Given the description of an element on the screen output the (x, y) to click on. 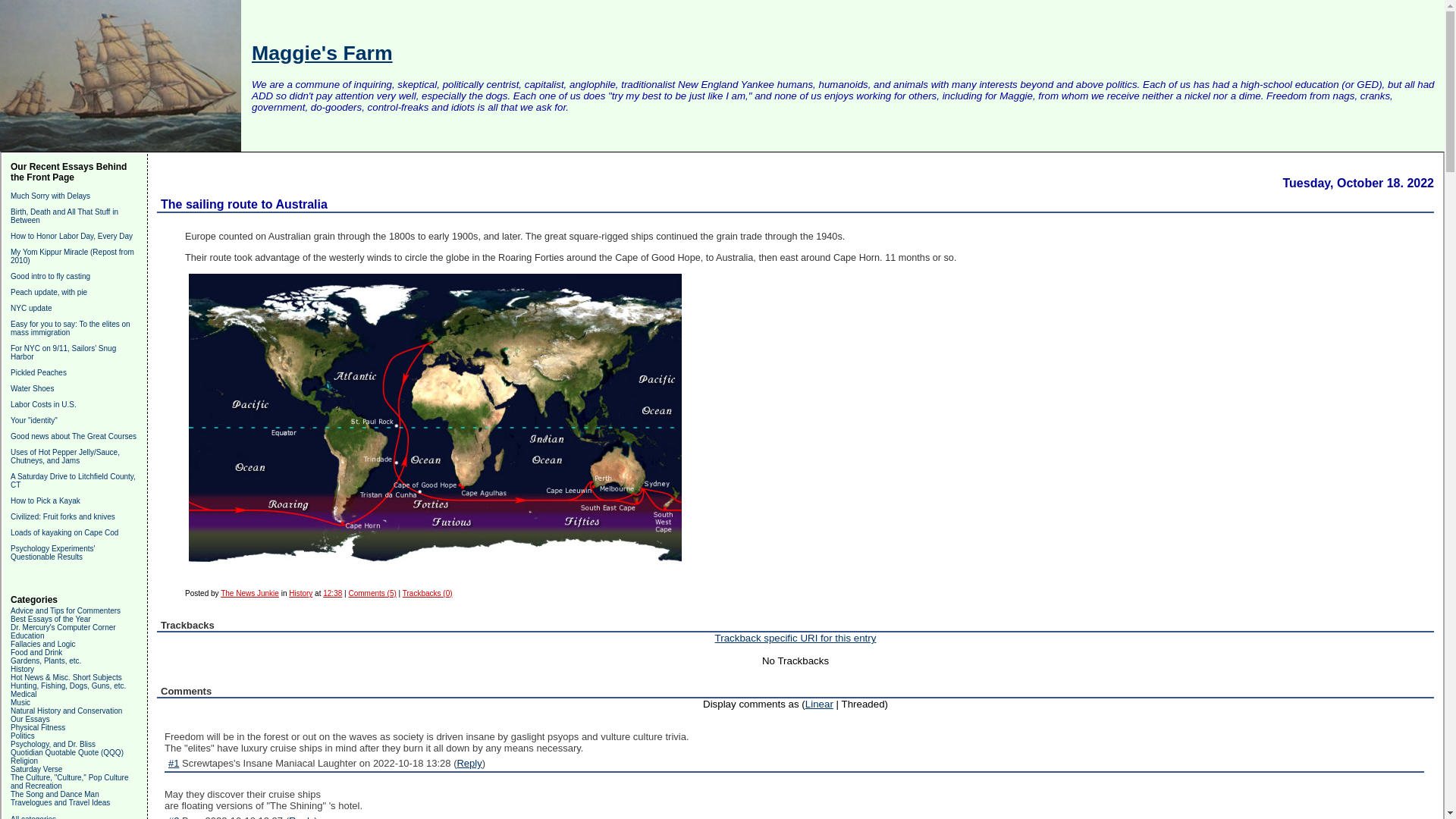
Politics (22, 736)
A Saturday Drive to Litchfield County, CT (72, 480)
Your "identity" (34, 420)
Good intro to fly casting (50, 275)
Peach update, with pie (48, 292)
Gardens, Plants, etc. (45, 660)
Water Shoes (31, 388)
Best Essays of the Year (50, 619)
Natural History and Conservation (66, 710)
Music (20, 702)
